Given the description of an element on the screen output the (x, y) to click on. 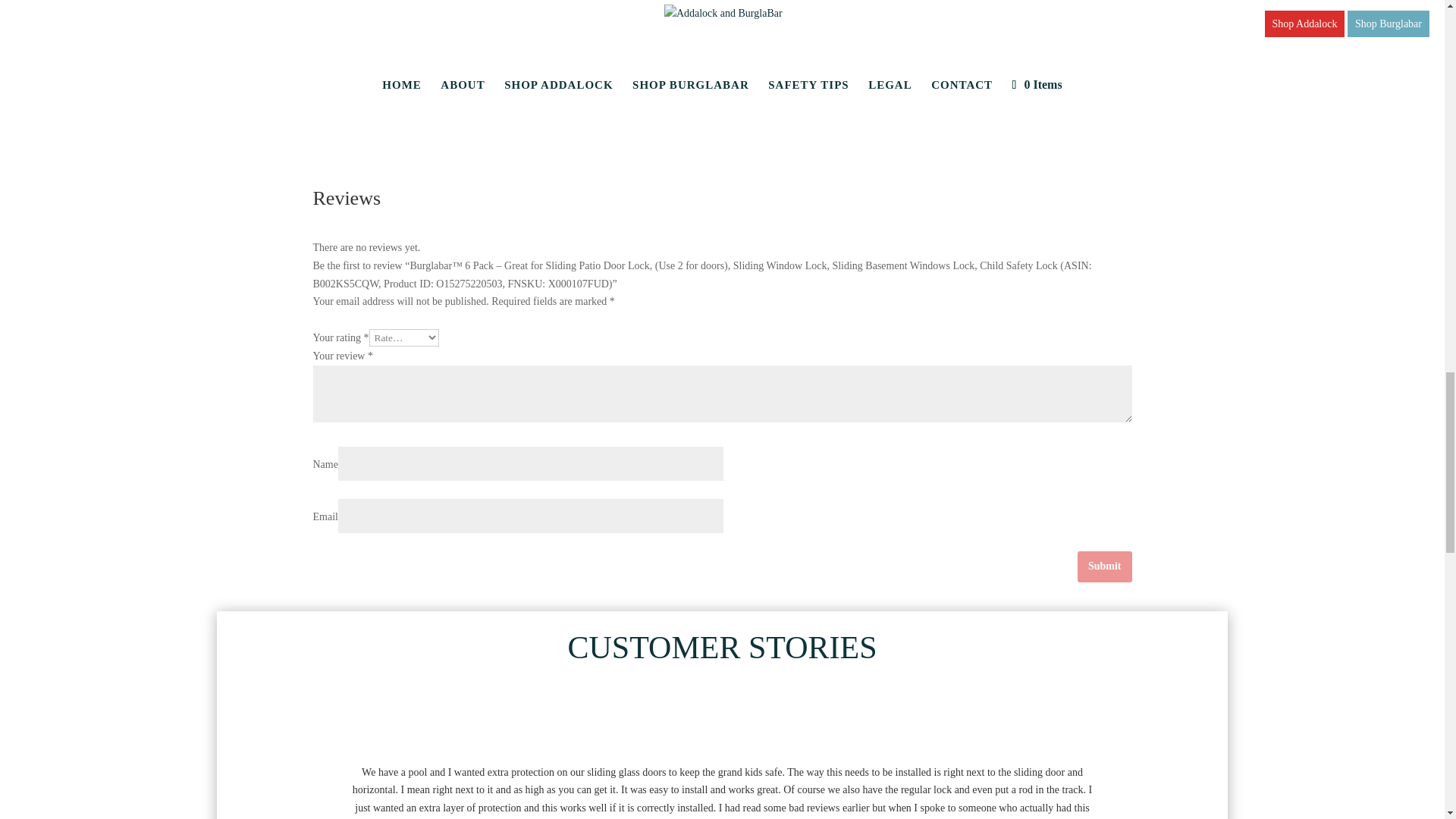
Submit (1104, 565)
